Given the description of an element on the screen output the (x, y) to click on. 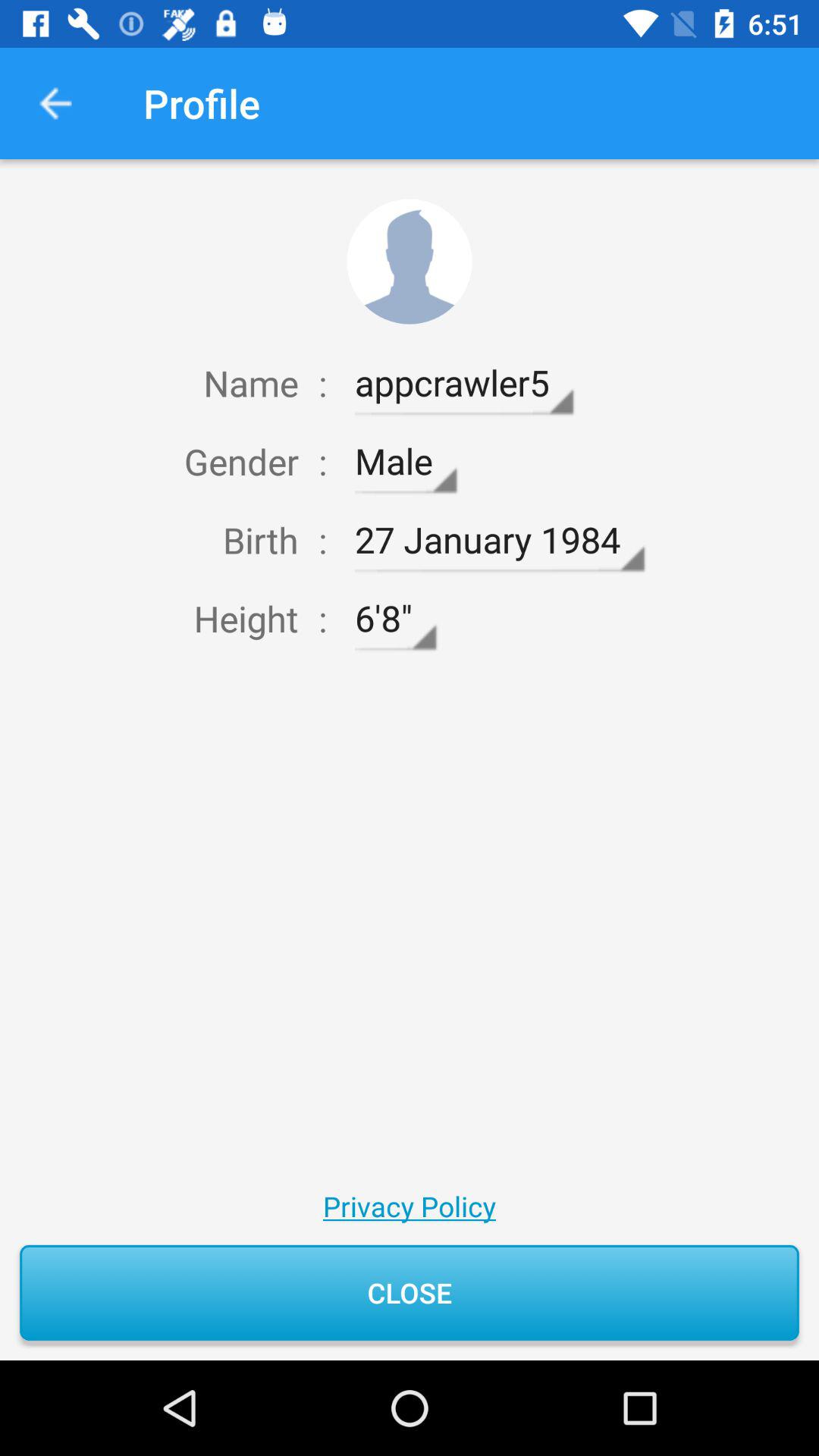
change profile picture (409, 261)
